Given the description of an element on the screen output the (x, y) to click on. 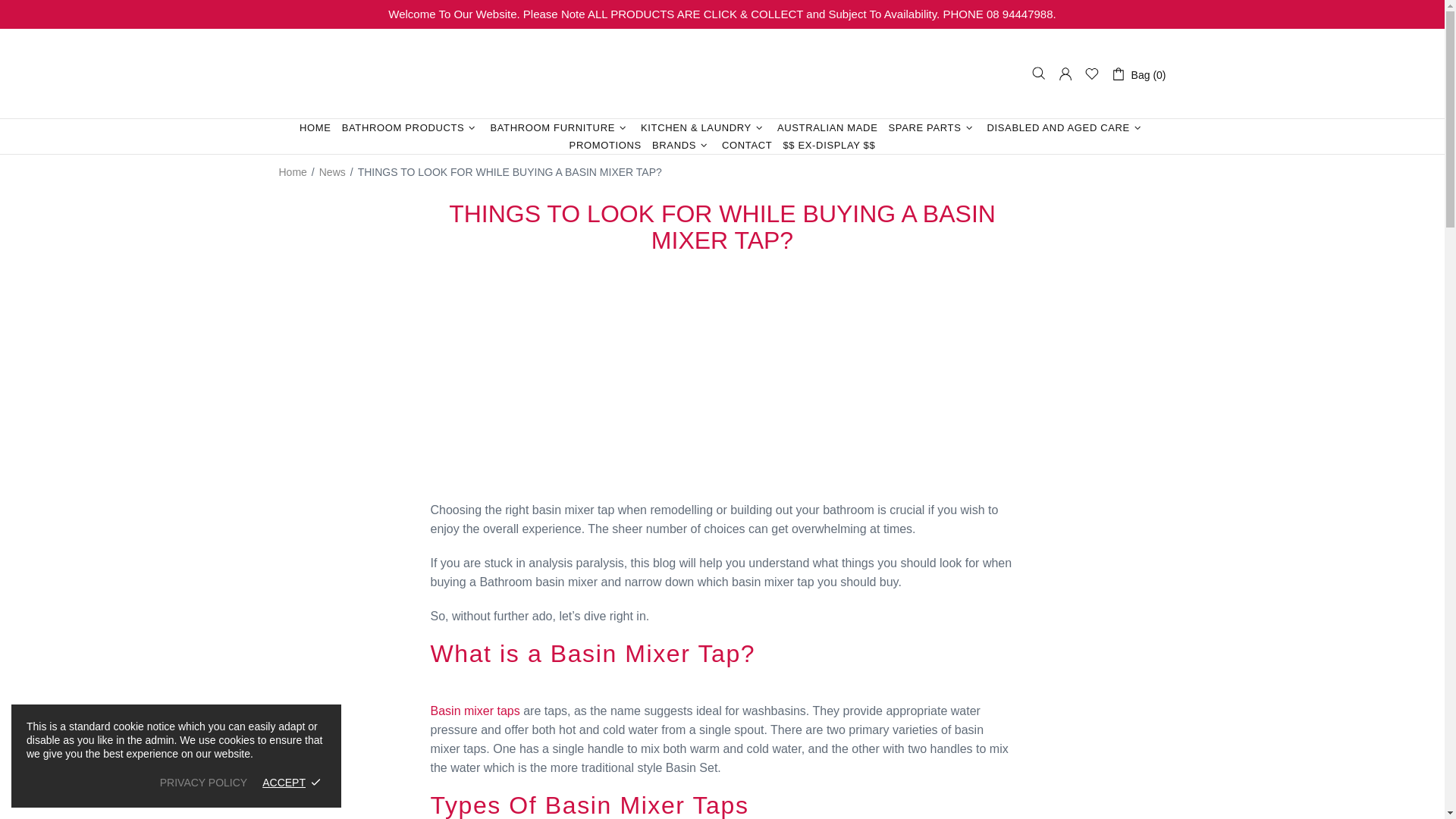
HOME (315, 127)
Tuck Plumbing Fixtures (722, 73)
BATHROOM PRODUCTS (410, 127)
